Given the description of an element on the screen output the (x, y) to click on. 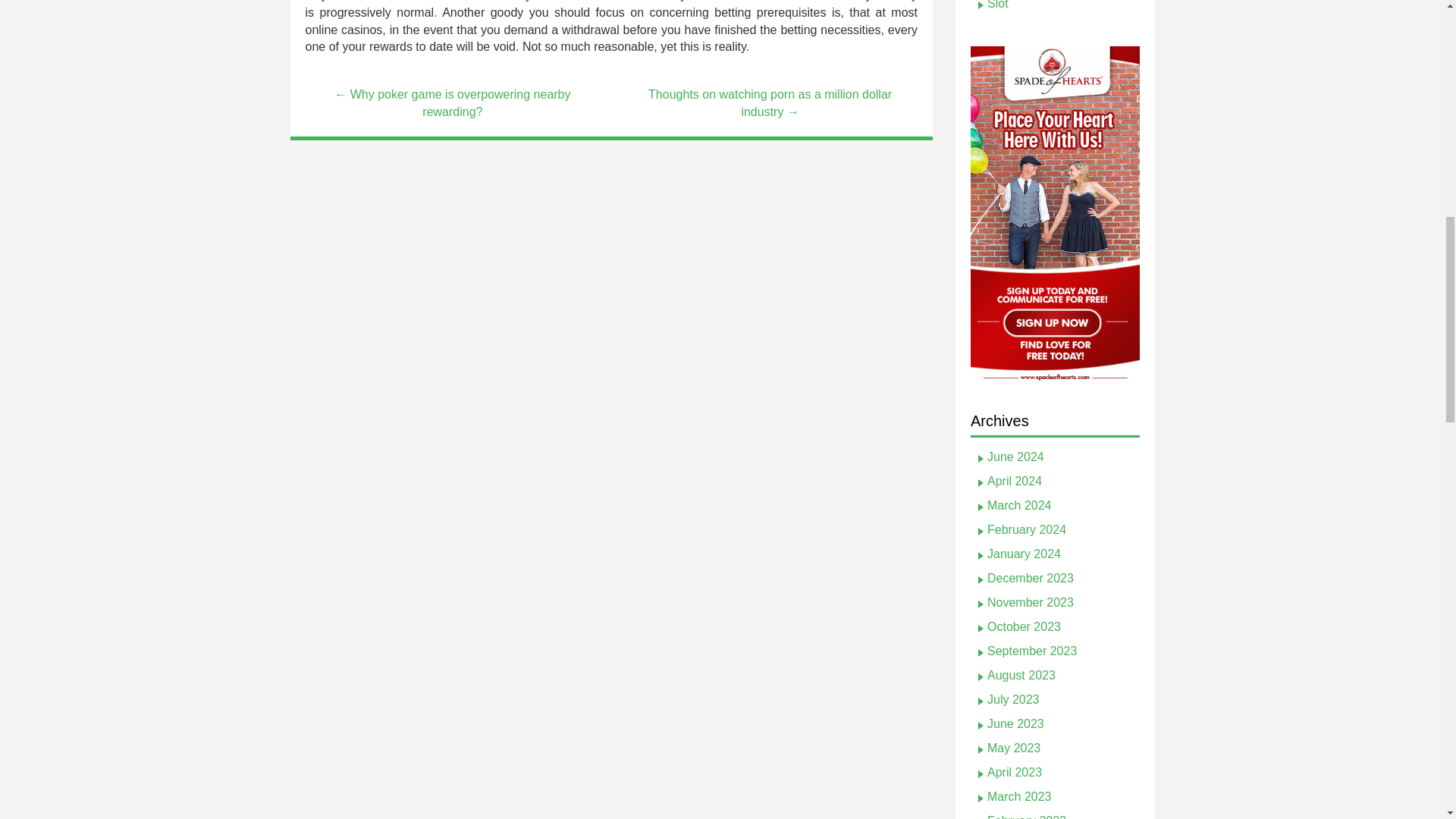
February 2024 (1026, 529)
November 2023 (1030, 602)
June 2023 (1015, 723)
August 2023 (1021, 675)
Slot (998, 4)
March 2024 (1019, 504)
January 2024 (1024, 553)
April 2024 (1014, 481)
October 2023 (1024, 626)
December 2023 (1030, 577)
September 2023 (1032, 650)
June 2024 (1015, 456)
July 2023 (1013, 698)
May 2023 (1014, 748)
